Given the description of an element on the screen output the (x, y) to click on. 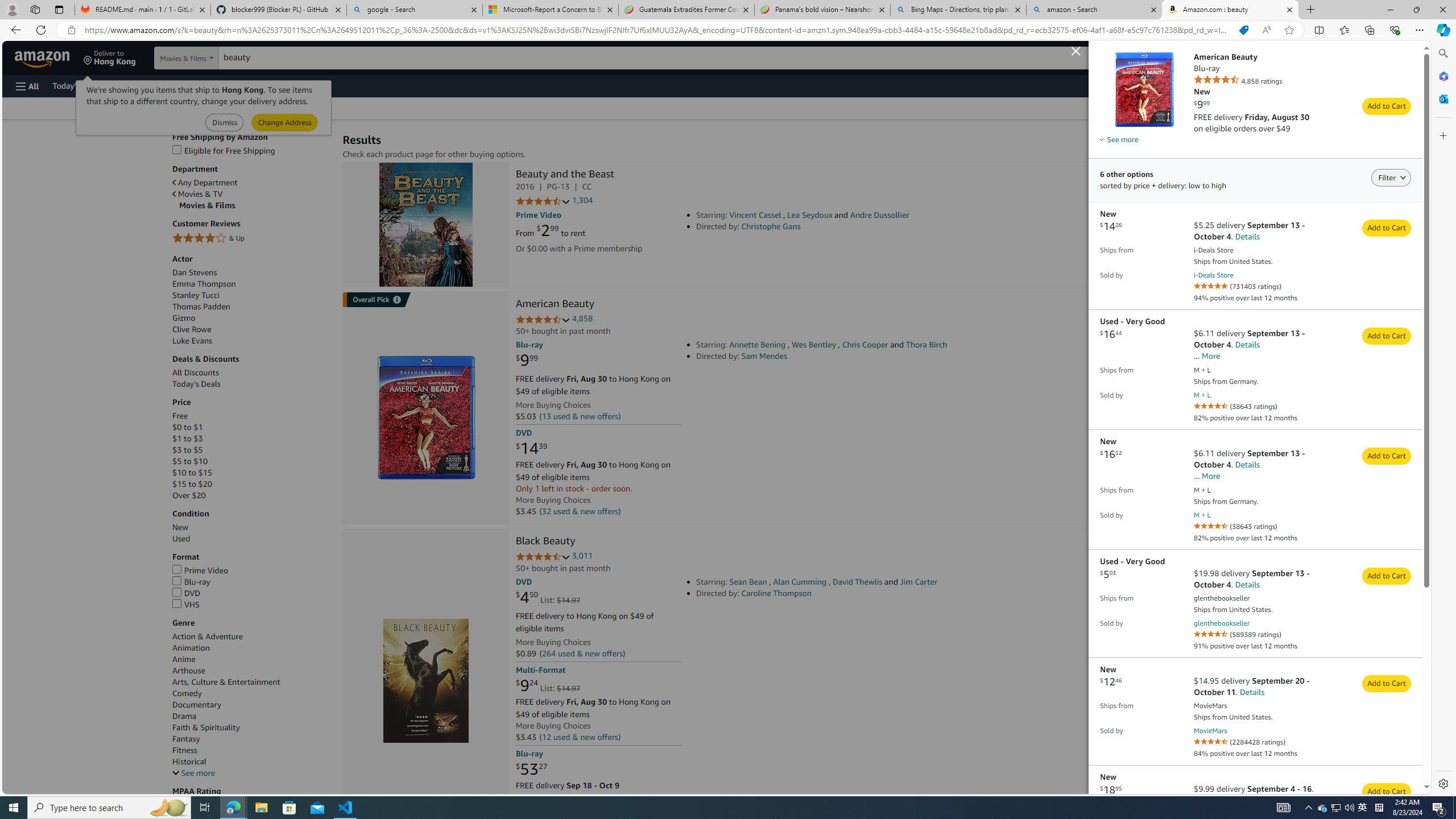
Gizmo (251, 317)
Workspaces (34, 9)
Blu-ray (191, 581)
$5 to $10 (189, 461)
Go back to filtering menu (48, 788)
Opens a new page (1210, 730)
About details for this option. (1118, 139)
Favorites (1344, 29)
Comedy (186, 692)
google - Search (414, 9)
Hello, sign in Account & Lists (1212, 57)
Settings and more (Alt+F) (1419, 29)
Split screen (1318, 29)
Add to Cart from seller MovieMars and price $12.46  (1386, 683)
Browser essentials (1394, 29)
